Given the description of an element on the screen output the (x, y) to click on. 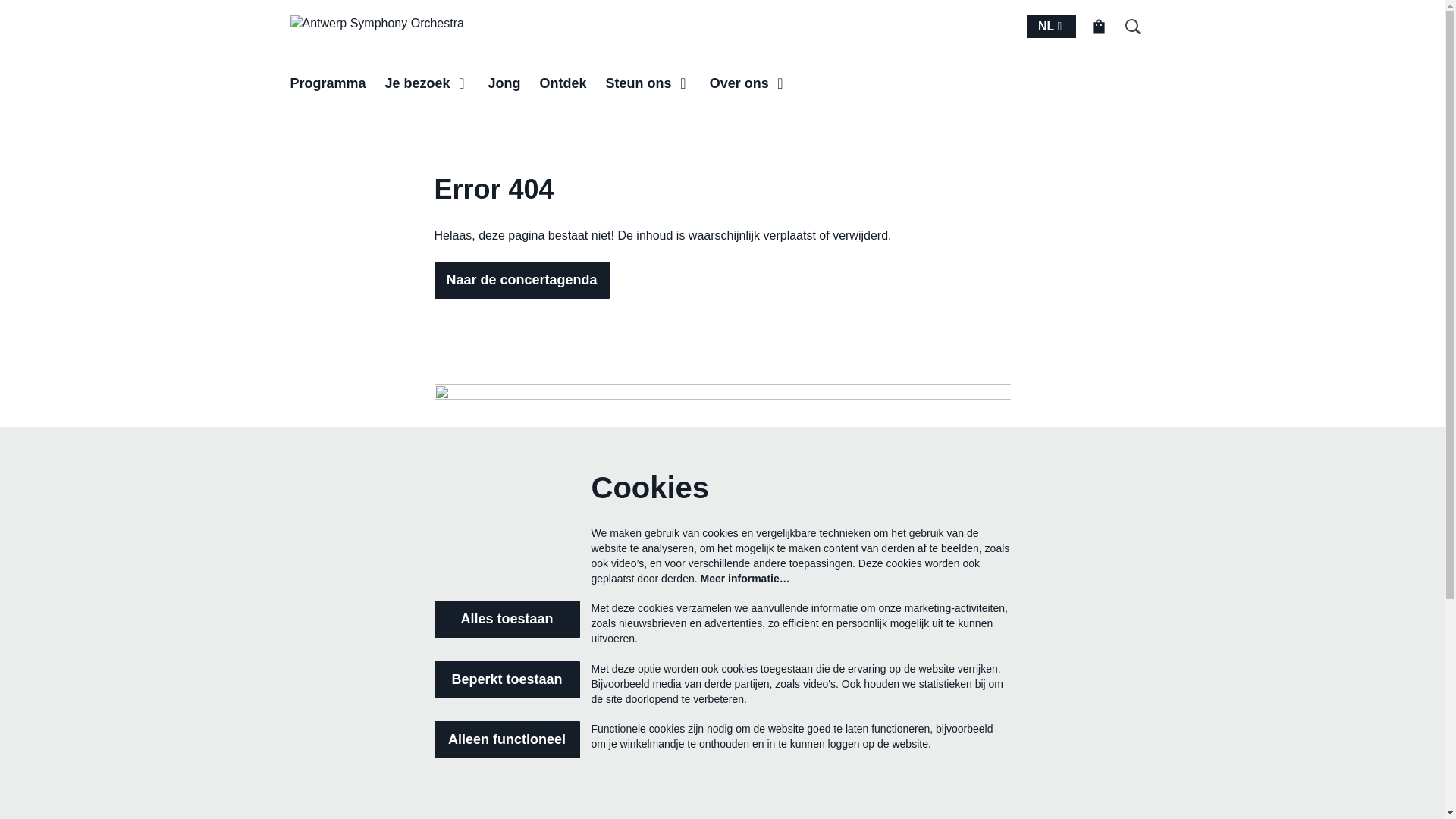
Jong Element type: text (504, 83)
Naar de concertagenda Element type: text (520, 279)
Programma Element type: text (327, 83)
Je bezoek Element type: text (427, 83)
Over ons Element type: text (748, 83)
Beperkt toestaan Element type: text (506, 679)
NL Element type: text (1057, 26)
Steun ons Element type: text (647, 83)
Ontdek Element type: text (562, 83)
Alles toestaan Element type: text (506, 618)
Ga naar homepage Element type: hover (376, 30)
Alleen functioneel Element type: text (506, 739)
